Given the description of an element on the screen output the (x, y) to click on. 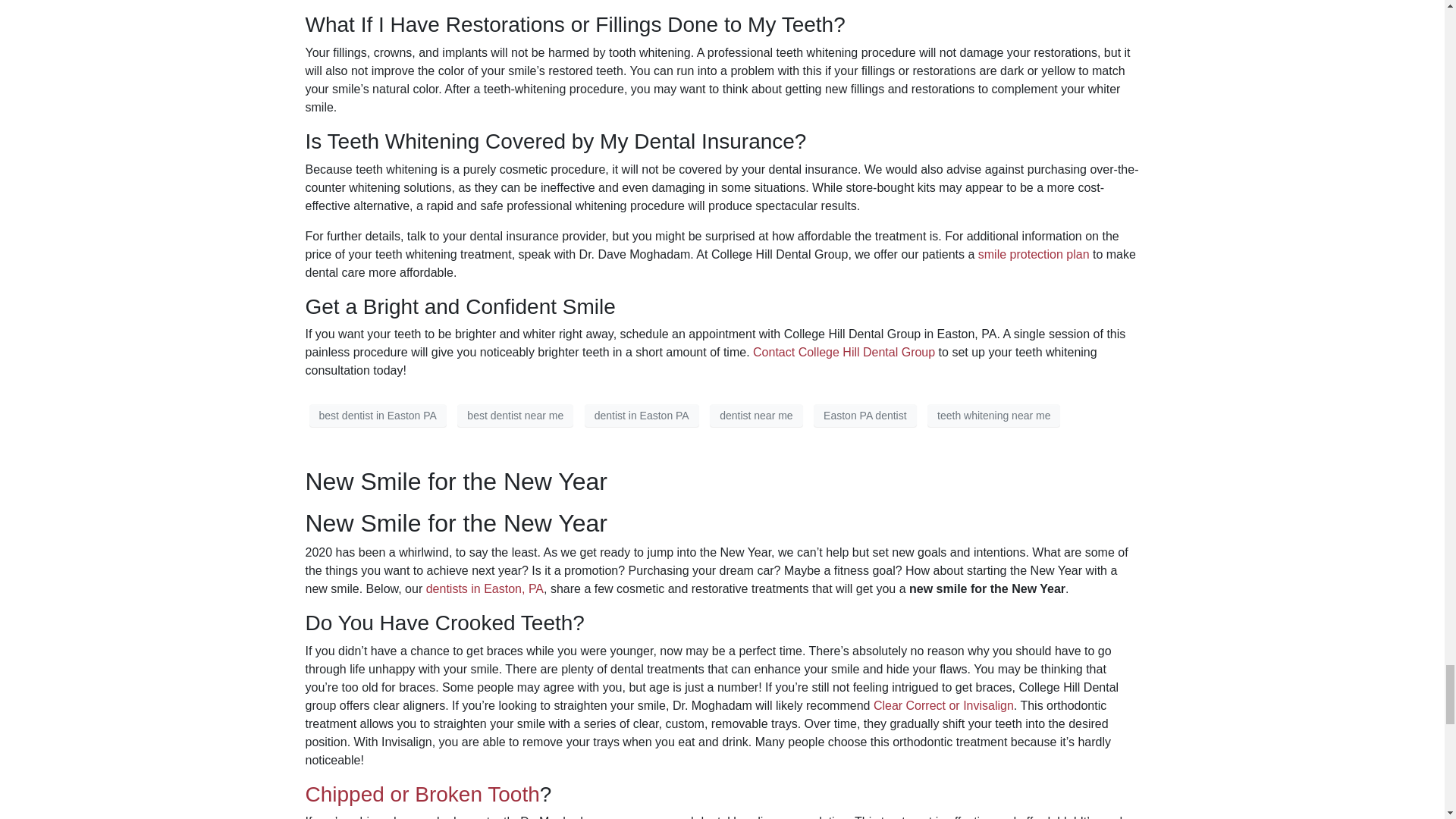
New Smile for the New Year (455, 481)
